Given the description of an element on the screen output the (x, y) to click on. 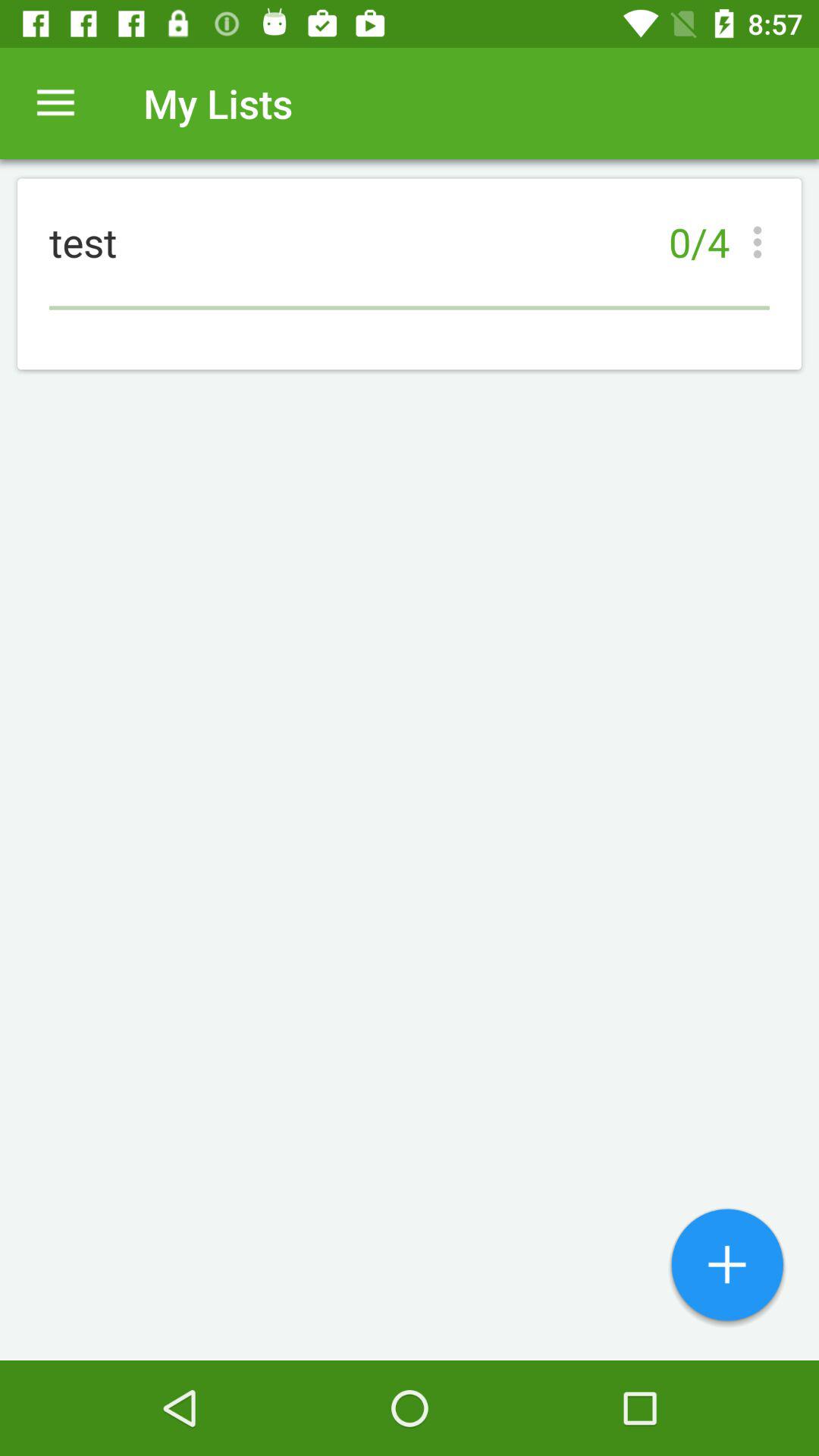
click the item to the left of the my lists (55, 103)
